Given the description of an element on the screen output the (x, y) to click on. 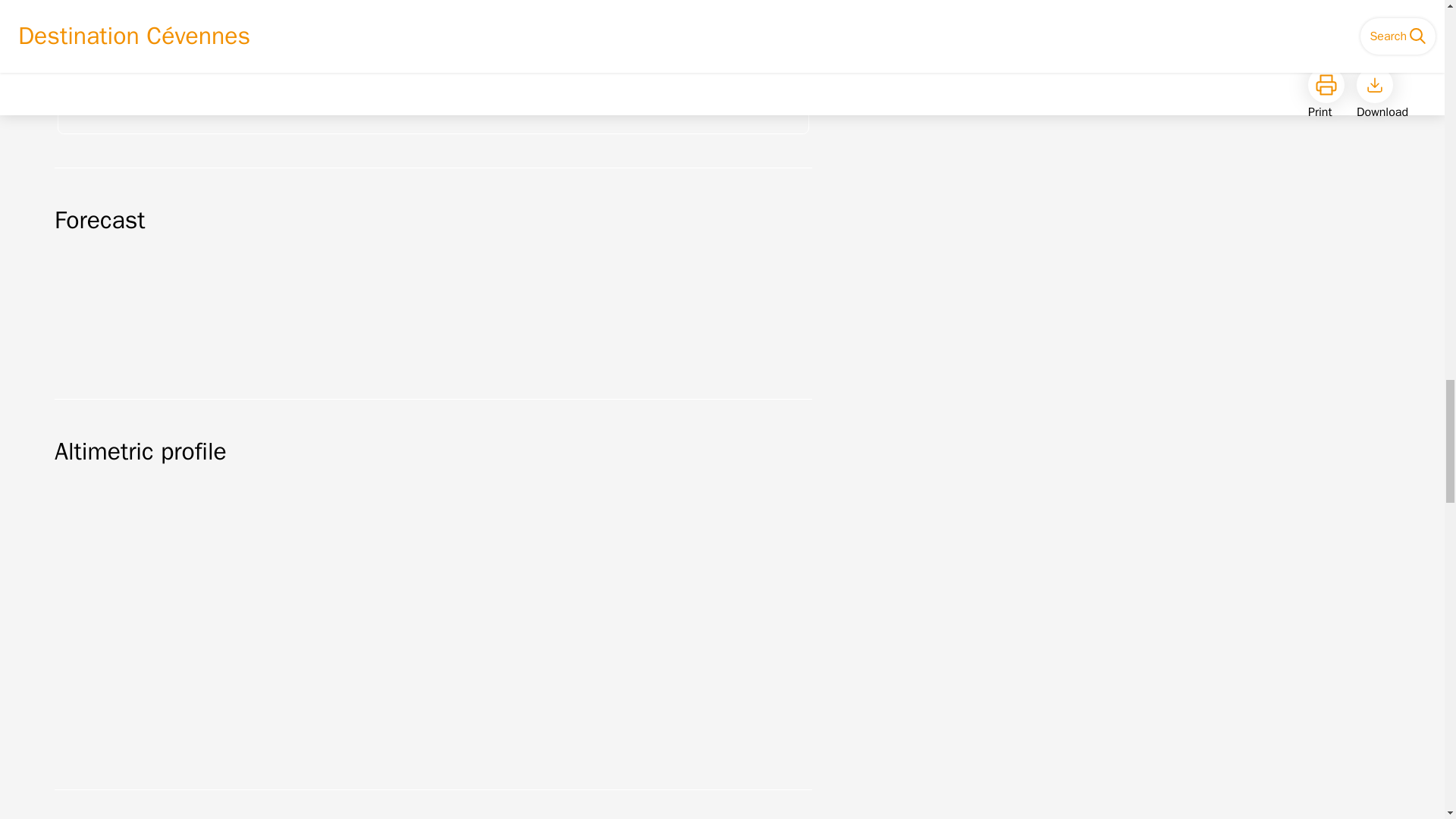
Widget meteofrance (433, 305)
View picture in full screen (199, 66)
